Given the description of an element on the screen output the (x, y) to click on. 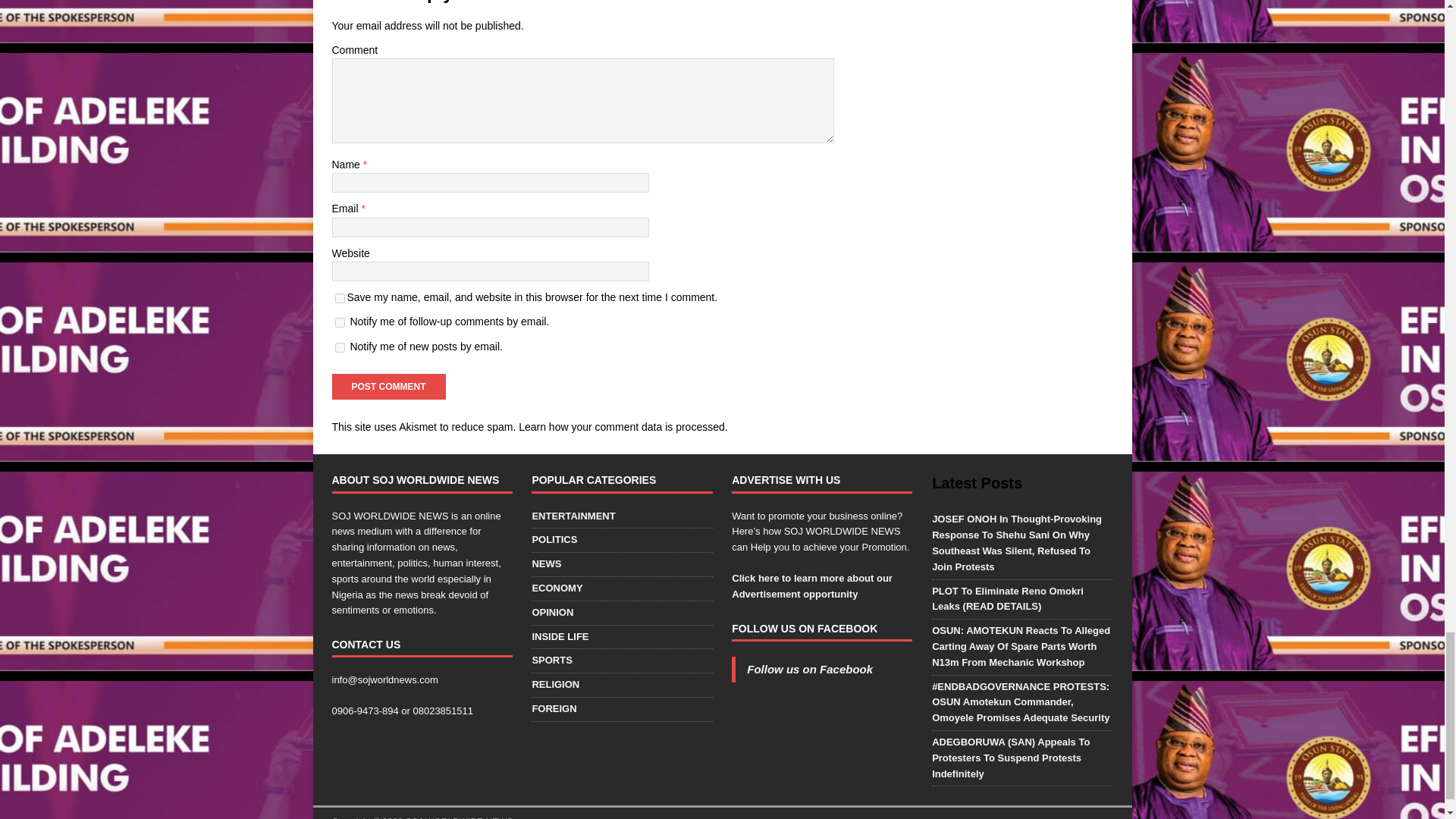
FOREIGN (621, 709)
POLITICS (621, 540)
Learn how your comment data is processed (621, 426)
ENTERTAINMENT (621, 518)
ECONOMY (621, 588)
subscribe (339, 347)
subscribe (339, 322)
yes (339, 298)
OPINION (621, 612)
Post Comment (388, 386)
RELIGION (621, 684)
INSIDE LIFE (621, 637)
NEWS (621, 564)
SPORTS (621, 660)
Post Comment (388, 386)
